Given the description of an element on the screen output the (x, y) to click on. 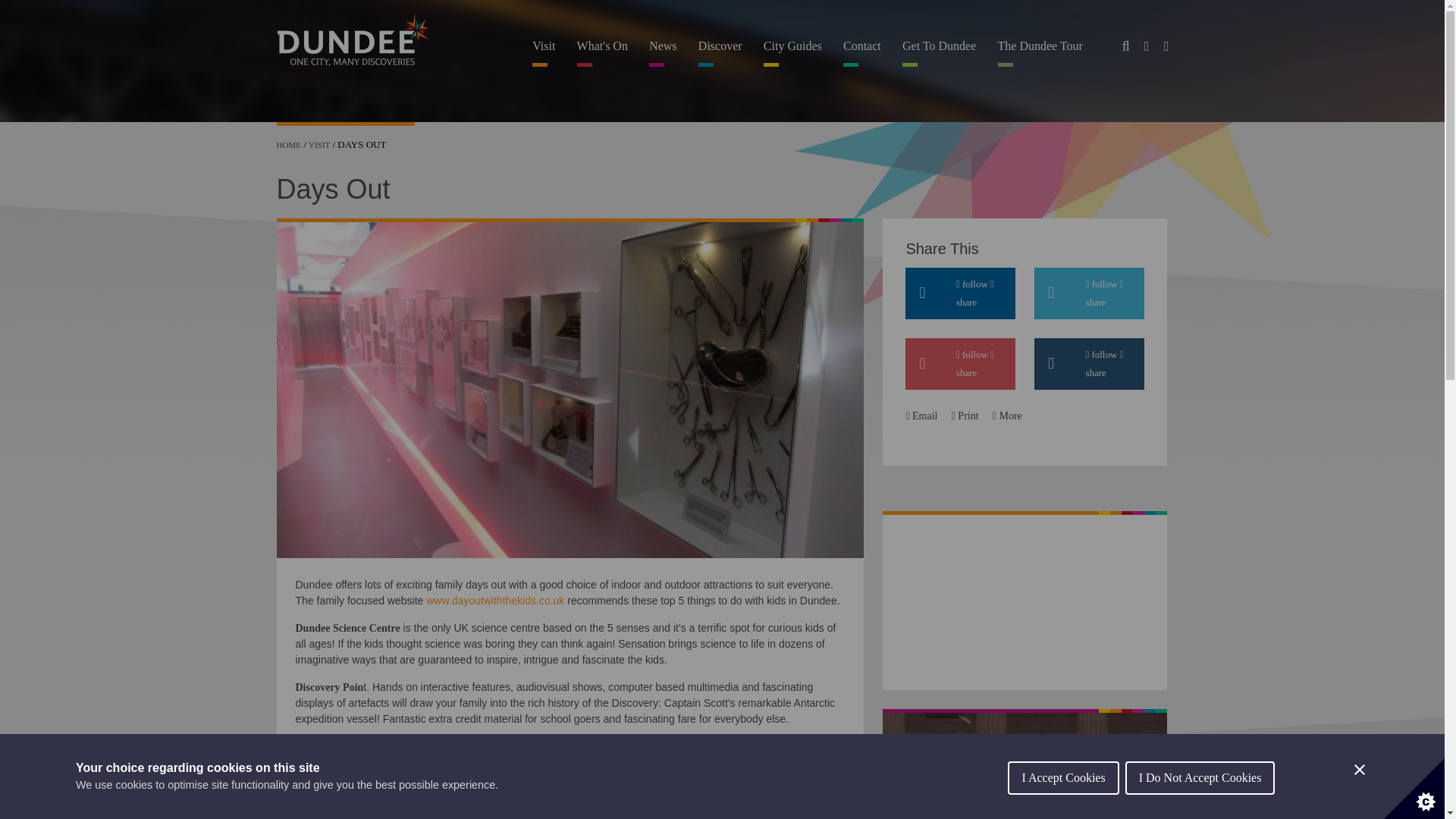
Get To Dundee (939, 53)
News (662, 53)
Discover (720, 53)
The Dundee Tour (1040, 53)
Dundee Food Festival (1024, 763)
I Accept Cookies (1062, 807)
Days out with the Kids (495, 600)
What's On (602, 53)
I Do Not Accept Cookies (1200, 802)
City Guides (792, 53)
Contact (862, 53)
